Given the description of an element on the screen output the (x, y) to click on. 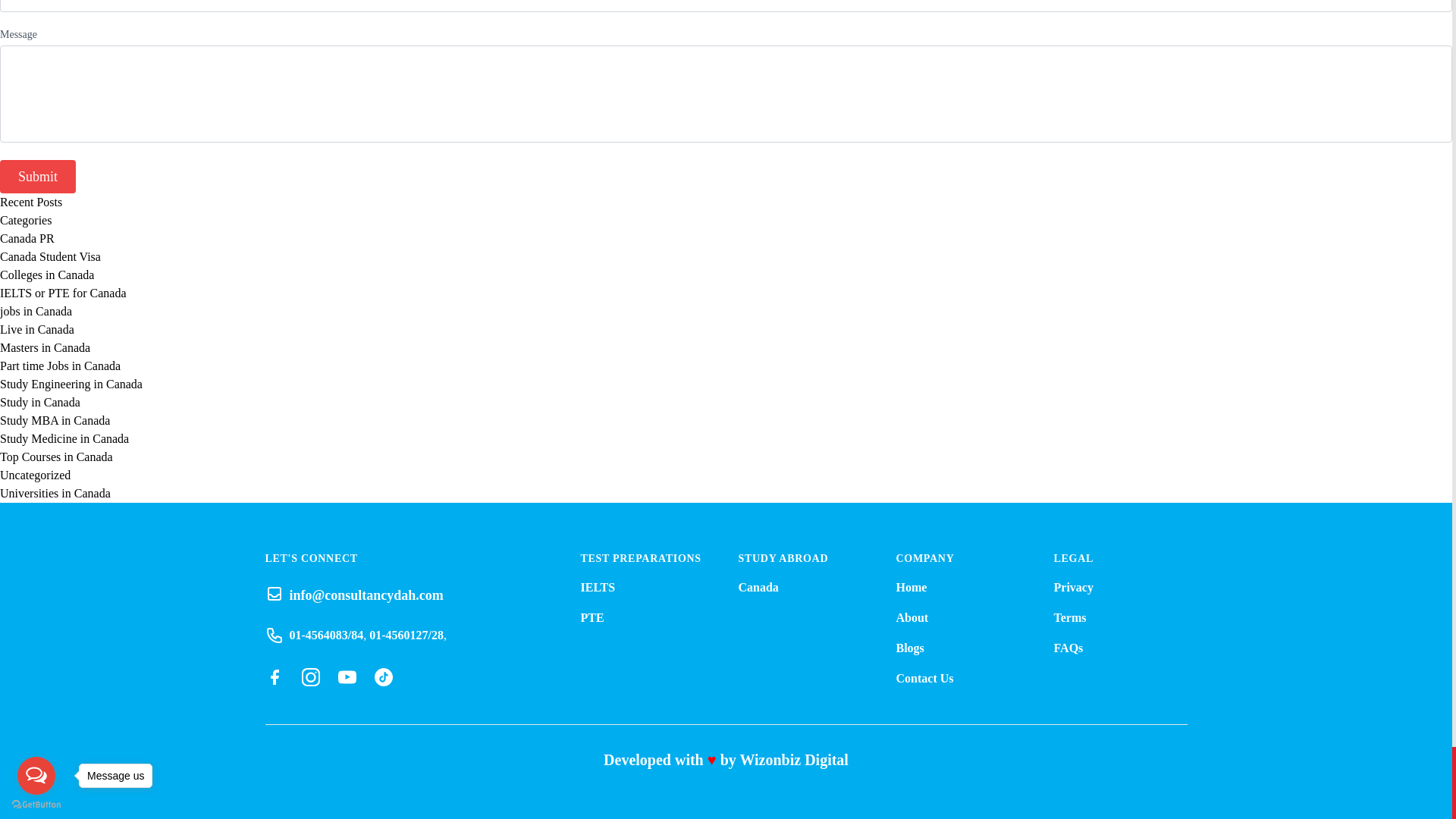
Submit (37, 176)
